Given the description of an element on the screen output the (x, y) to click on. 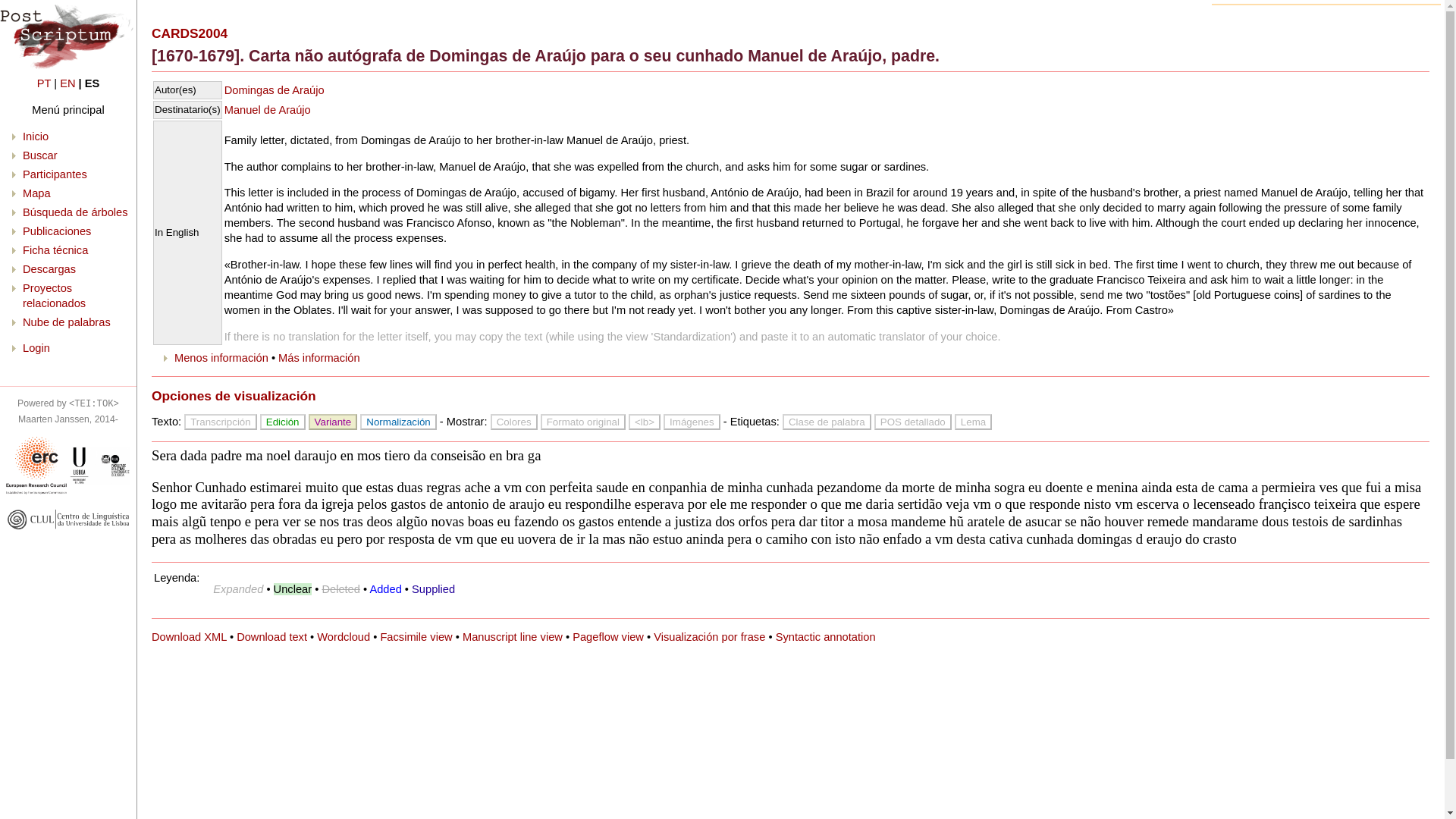
color-code form origin (513, 421)
Proyectos relacionados (54, 295)
Mapa (36, 193)
Pageflow view (607, 636)
Facsimile view (415, 636)
Inicio (35, 136)
PT (43, 82)
format breaks (583, 421)
Descargas (49, 268)
Clase de palabra (826, 421)
Buscar (40, 155)
Manuscript line view (512, 636)
EN (67, 82)
Download text (271, 636)
Participantes (55, 174)
